Given the description of an element on the screen output the (x, y) to click on. 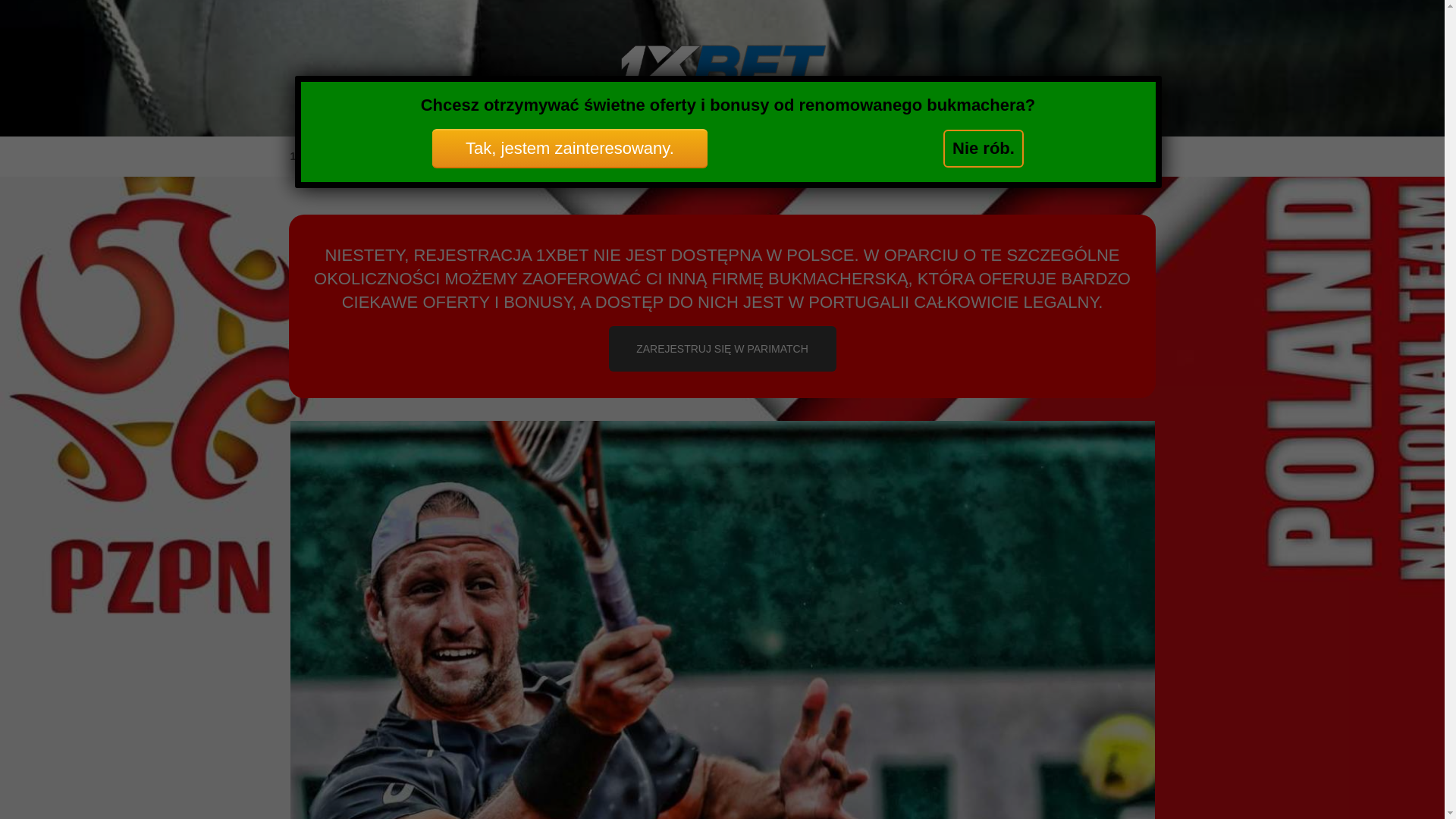
1XBET REJESTRACJA Element type: text (541, 156)
1XBET BONUS Element type: text (432, 156)
1XBET KOD PROMOCYJNY Element type: text (909, 156)
1XBET APLIKACJA Element type: text (776, 156)
Tak, jestem zainteresowany. Element type: text (569, 148)
1XBET POLSKA Element type: text (339, 156)
